Given the description of an element on the screen output the (x, y) to click on. 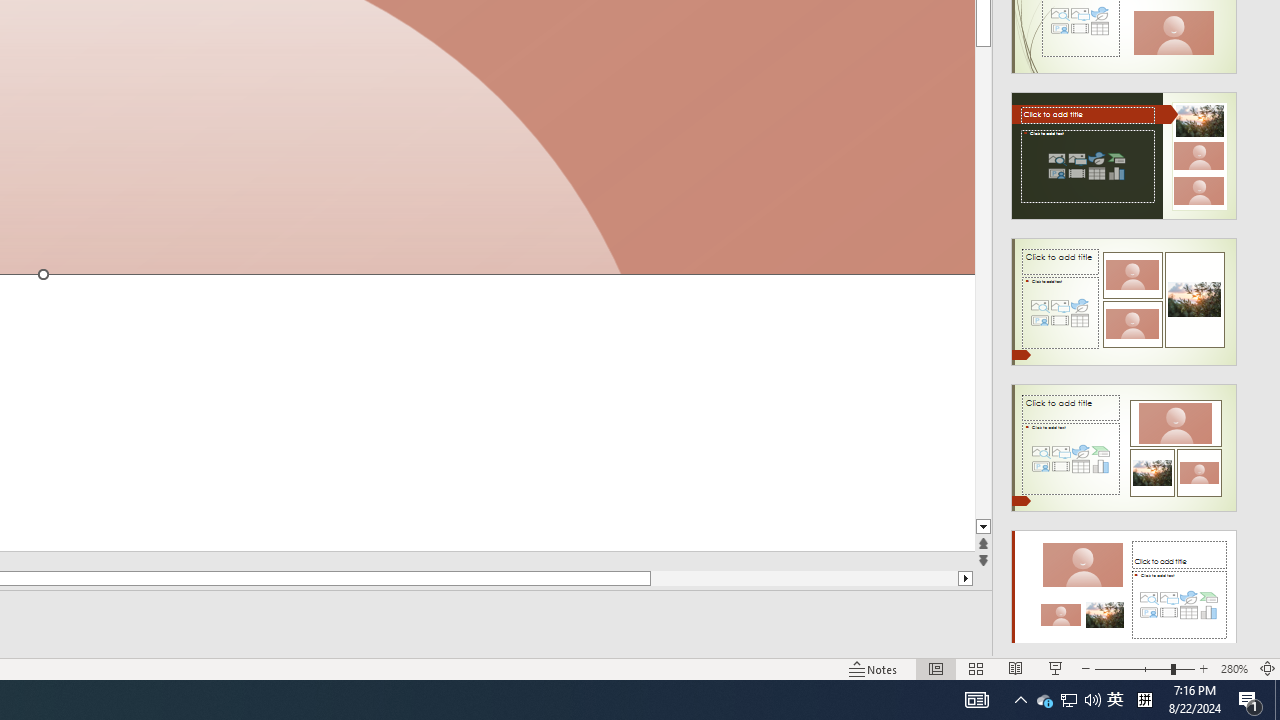
Action Center, 1 new notification (1250, 699)
